Given the description of an element on the screen output the (x, y) to click on. 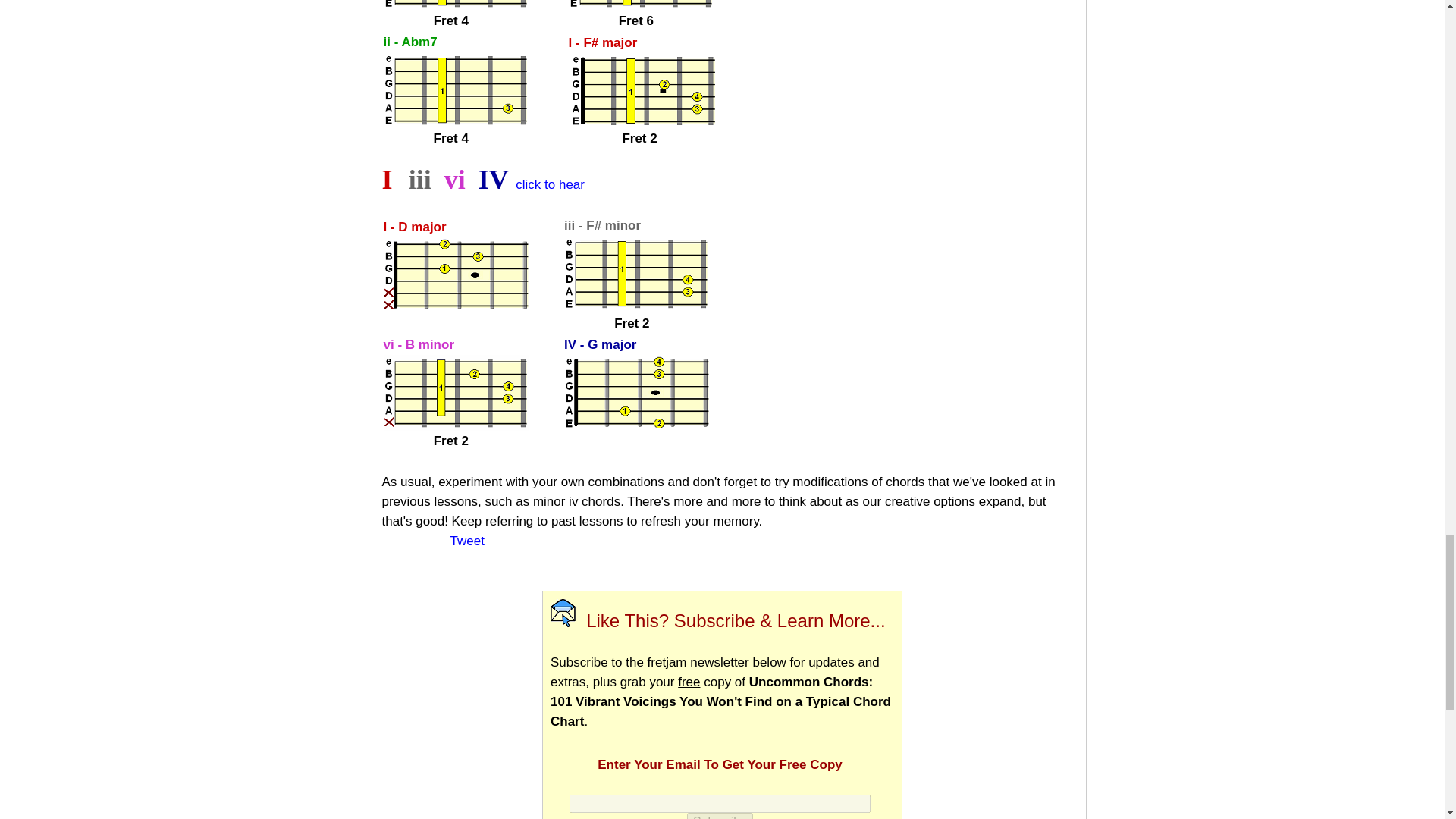
click to hear (550, 184)
Subscribe (719, 816)
Subscribe (719, 816)
Tweet (466, 540)
